Given the description of an element on the screen output the (x, y) to click on. 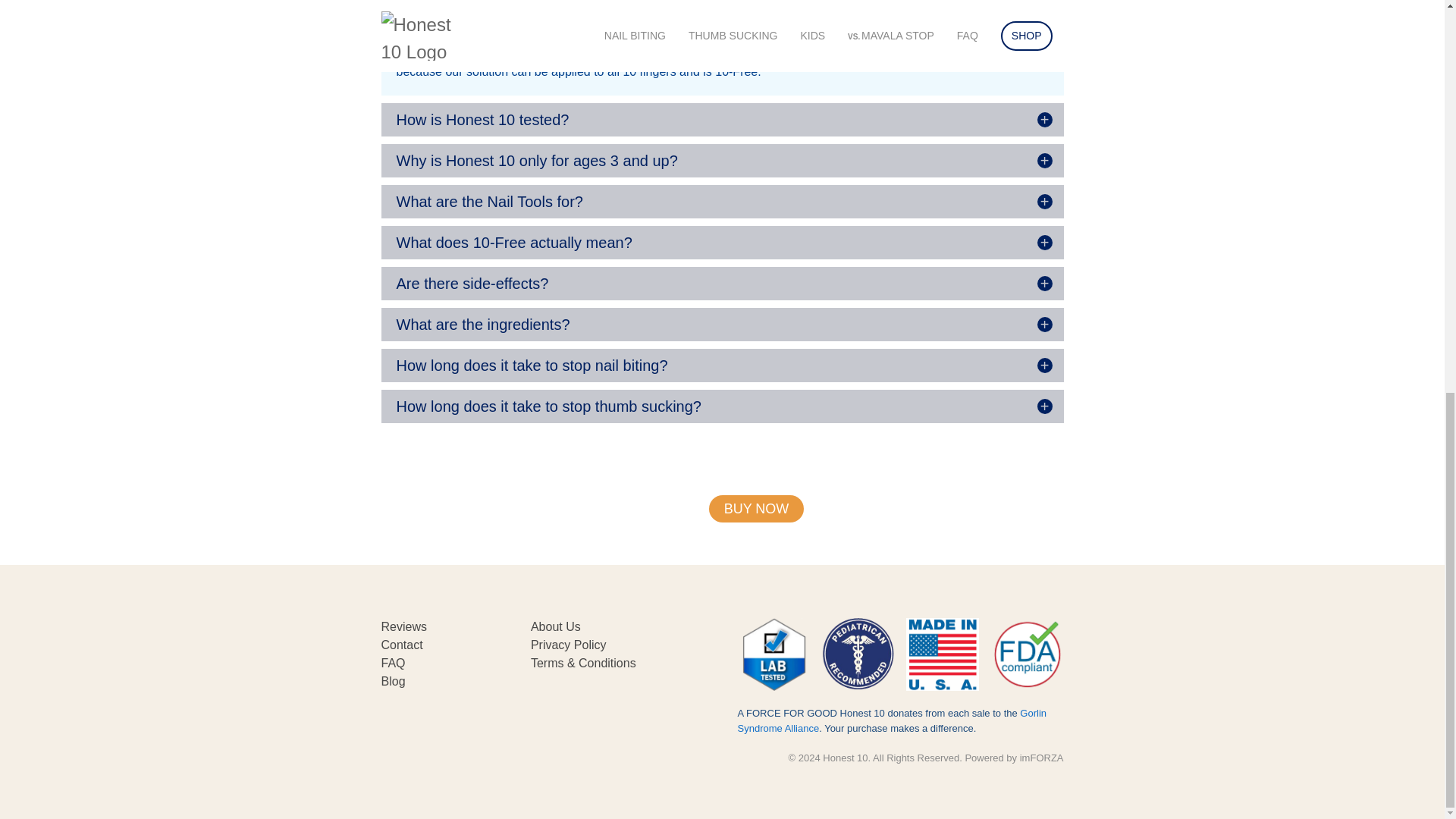
How long does it take to stop thumb sucking? (721, 406)
Blog (392, 680)
FAQ (392, 662)
What are the ingredients? (721, 324)
How is Honest 10 tested? (721, 119)
Gorlin Syndrome Alliance (891, 720)
imFORZA (1042, 757)
Why is Honest 10 only for ages 3 and up? (721, 160)
Privacy Policy (569, 644)
Are there side-effects? (721, 283)
